Given the description of an element on the screen output the (x, y) to click on. 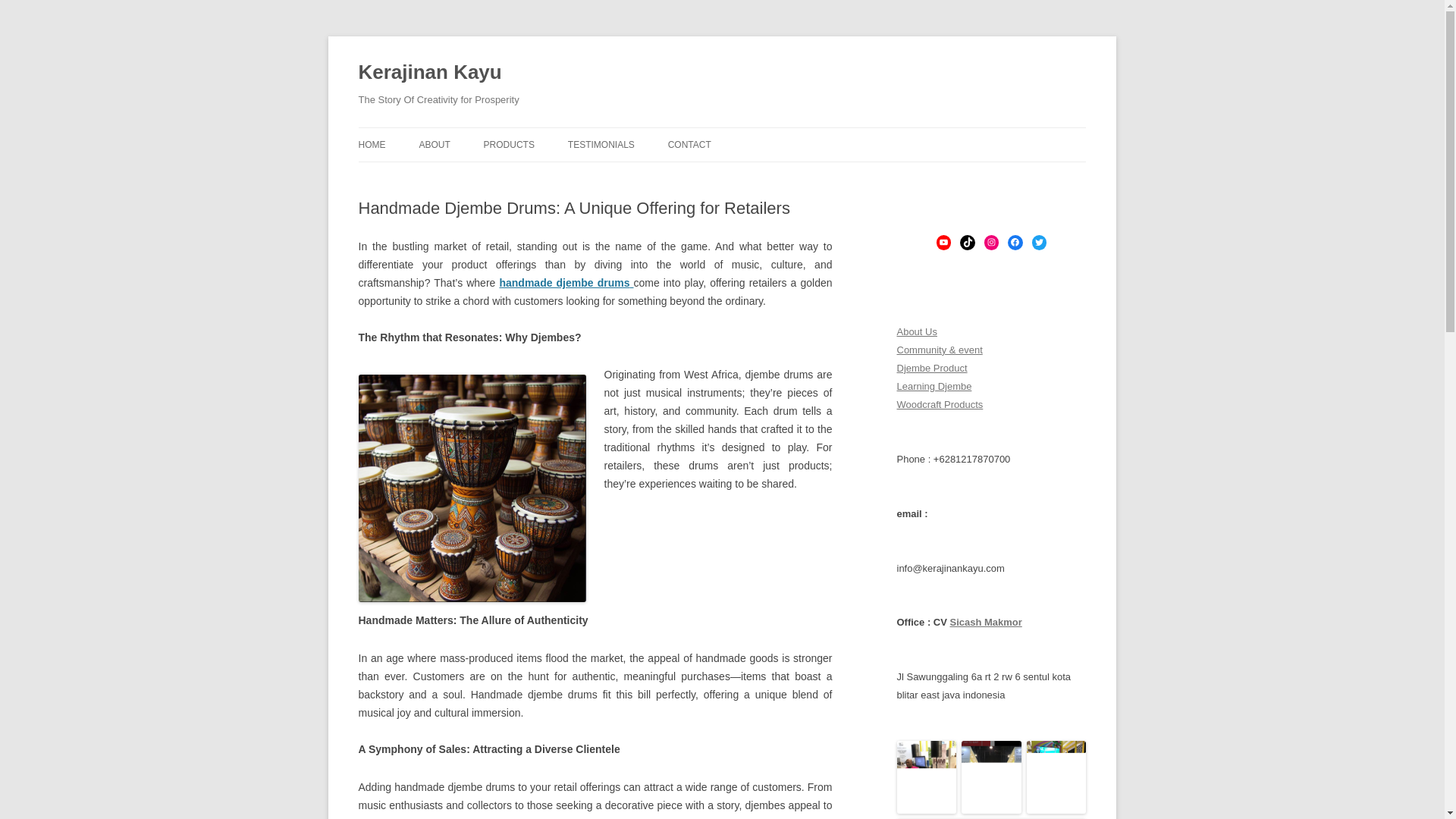
Sicash Makmor (985, 622)
ABOUT (434, 144)
Learning Djembe (933, 386)
Kerajinan Kayu (429, 72)
Djembe Product (931, 367)
TikTok (966, 242)
Woodcraft Products (939, 404)
YouTube (943, 242)
Instagram (991, 242)
